Given the description of an element on the screen output the (x, y) to click on. 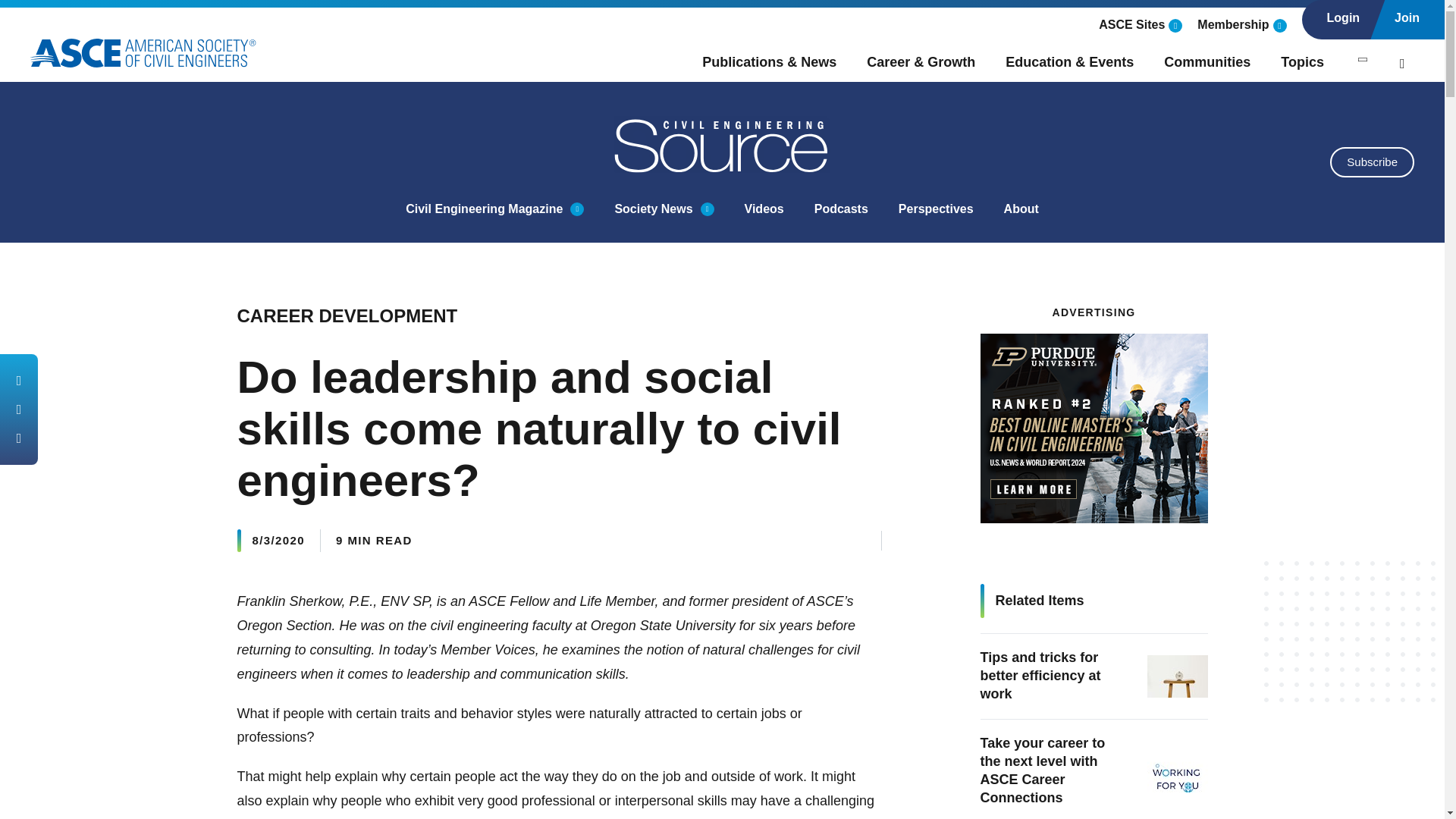
Videos (764, 209)
Civil Engineering Magazine (484, 209)
Subscribe to ASCE's Civil Engineering Source (1371, 162)
Podcasts (840, 209)
Civil Engineering Source (722, 143)
